Given the description of an element on the screen output the (x, y) to click on. 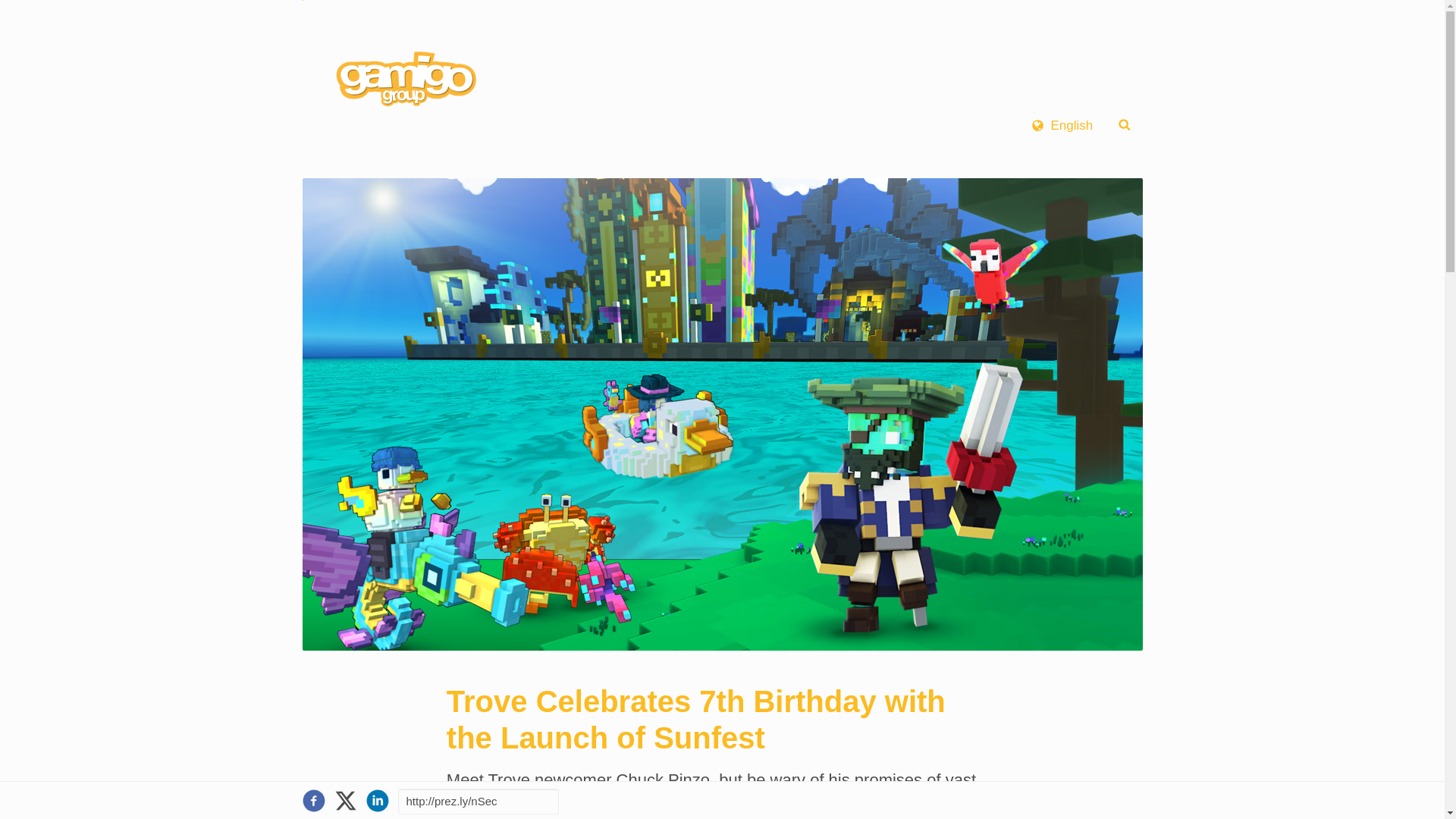
gamigo group (401, 79)
English (1061, 124)
English (1061, 124)
Search in newsroom (1123, 124)
